Given the description of an element on the screen output the (x, y) to click on. 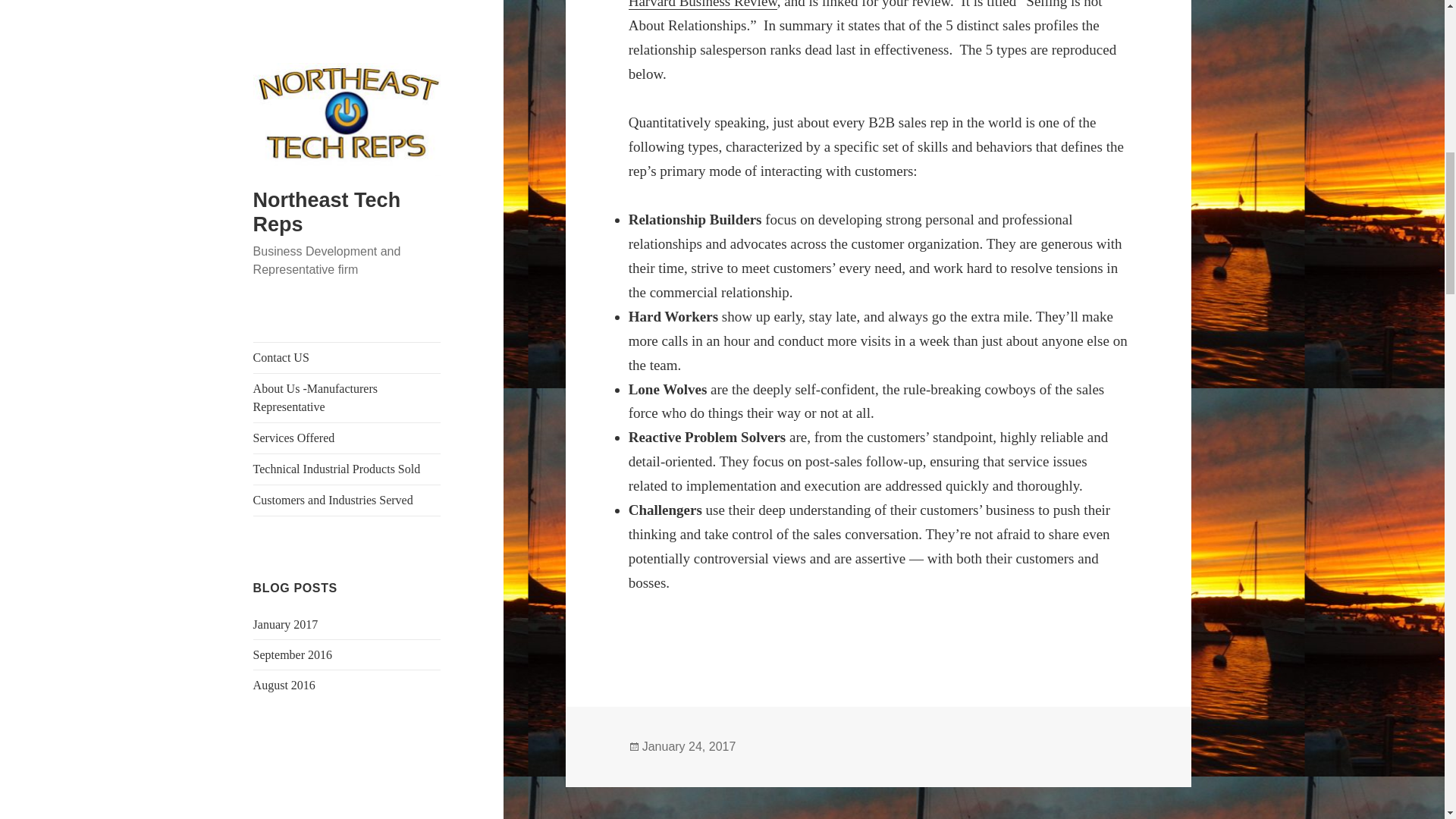
January 24, 2017 (689, 746)
Harvard Business Review (702, 4)
